Given the description of an element on the screen output the (x, y) to click on. 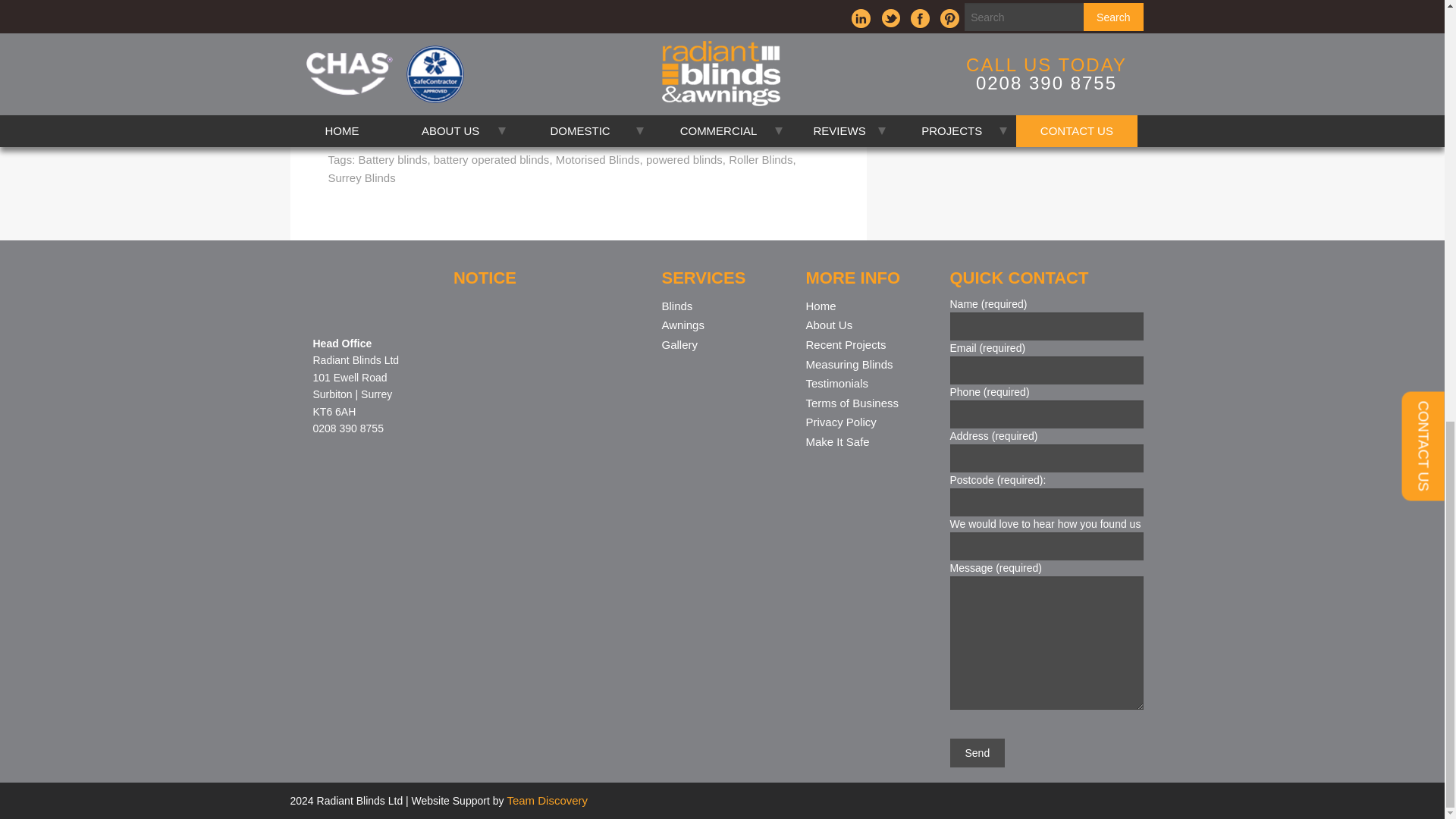
Send (976, 752)
